Given the description of an element on the screen output the (x, y) to click on. 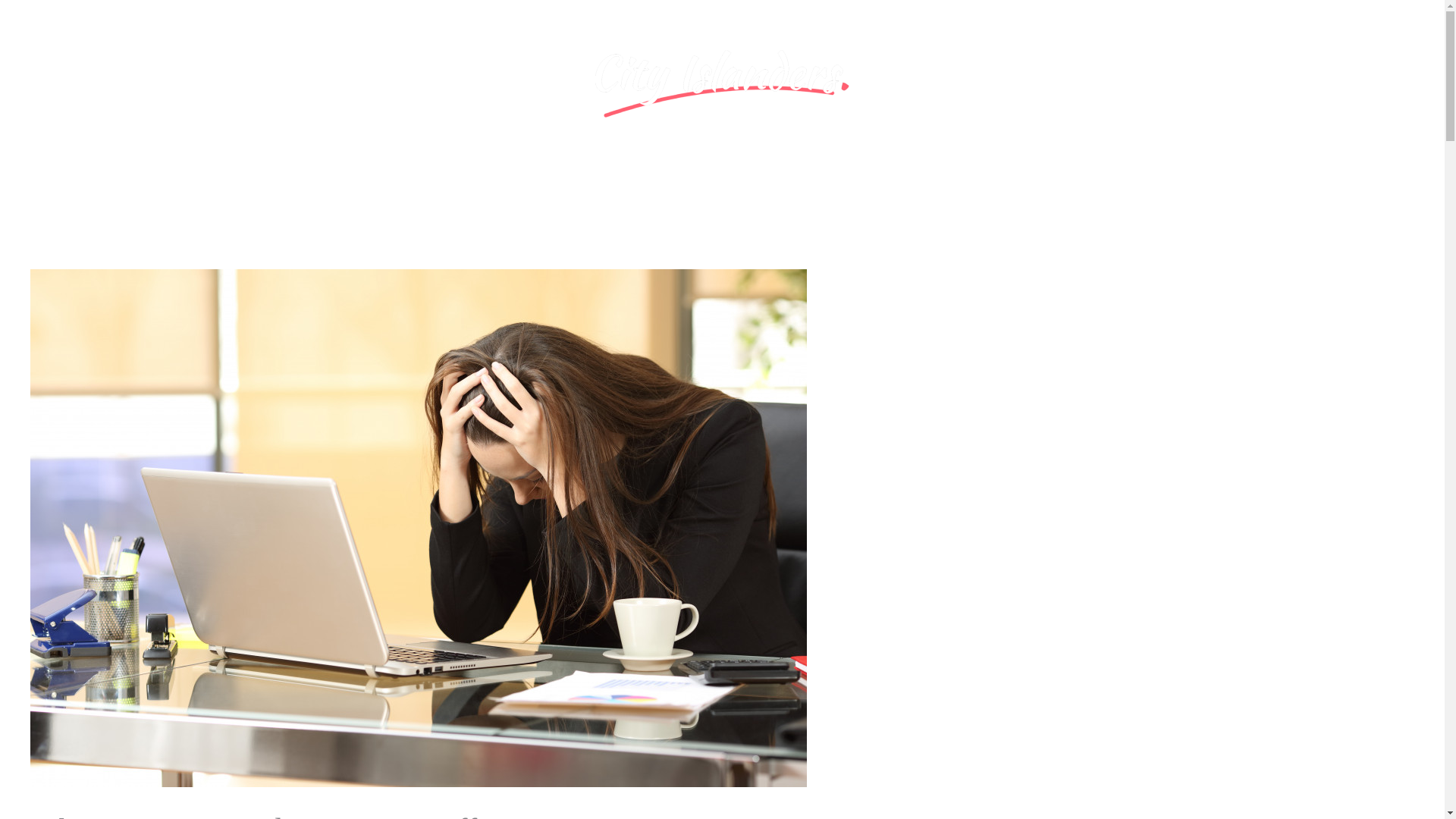
Travel Tips (442, 165)
Healthy Living (842, 165)
Leisure Activities (954, 165)
Home Organization Ideas (705, 165)
